Given the description of an element on the screen output the (x, y) to click on. 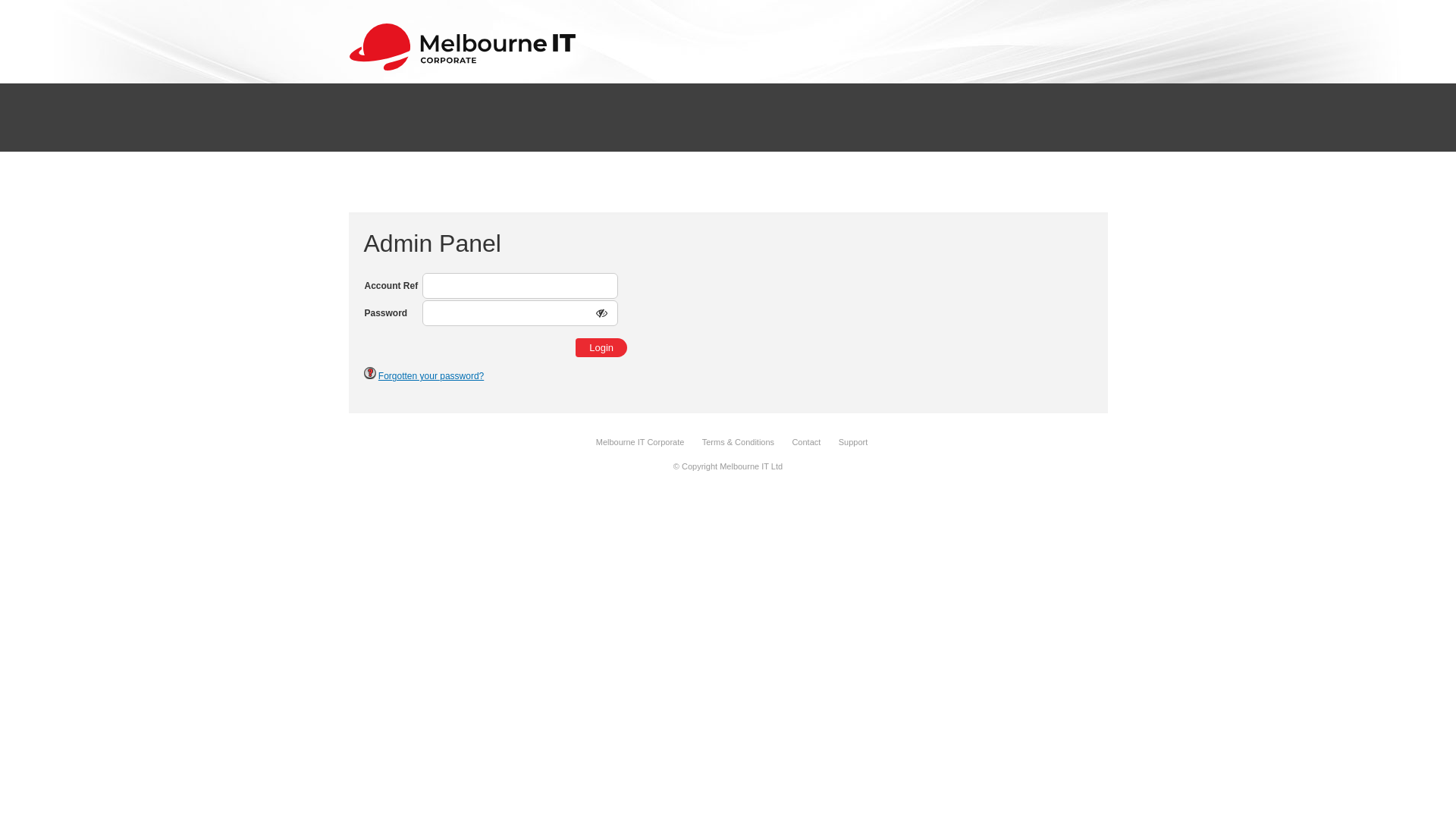
Melbourne IT Corporate Element type: text (640, 441)
Login Element type: text (601, 347)
Support Element type: text (853, 441)
Melbourne IT Element type: hover (462, 67)
Terms & Conditions Element type: text (738, 441)
Contact Element type: text (805, 441)
Forgotten your password? Element type: text (430, 375)
